Given the description of an element on the screen output the (x, y) to click on. 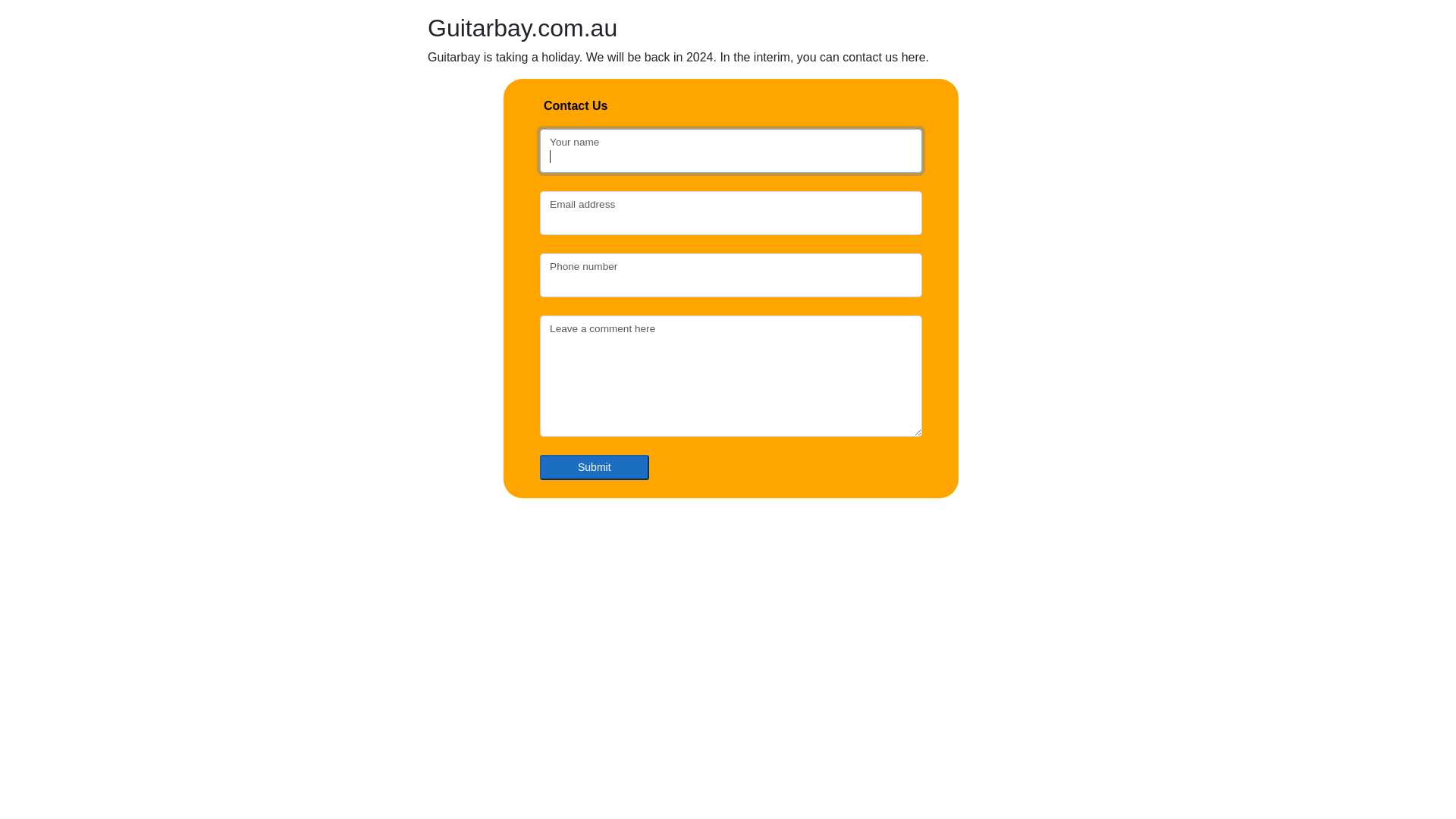
Submit Element type: text (594, 467)
